Given the description of an element on the screen output the (x, y) to click on. 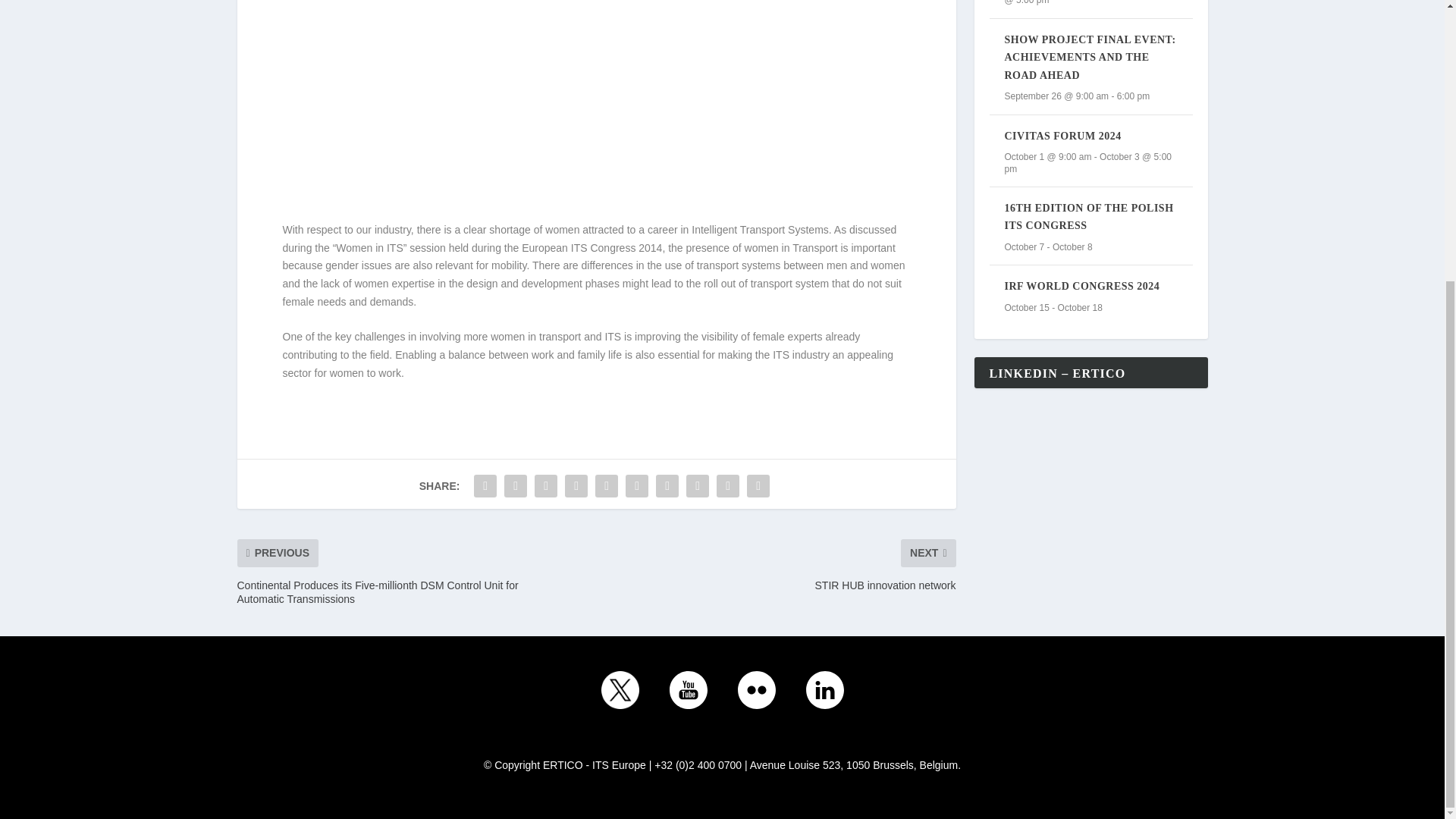
Share "Women shortage on the ITS sector" via Twitter (515, 485)
Share "Women shortage on the ITS sector" via Buffer (667, 485)
Share "Women shortage on the ITS sector" via Facebook (485, 485)
Share "Women shortage on the ITS sector" via Print (757, 485)
16TH EDITION OF THE POLISH ITS CONGRESS (1088, 216)
SHOW PROJECT FINAL EVENT: ACHIEVEMENTS AND THE ROAD AHEAD (1089, 57)
Share "Women shortage on the ITS sector" via Stumbleupon (697, 485)
Share "Women shortage on the ITS sector" via Email (727, 485)
Share "Women shortage on the ITS sector" via LinkedIn (636, 485)
Share "Women shortage on the ITS sector" via Pinterest (606, 485)
